Given the description of an element on the screen output the (x, y) to click on. 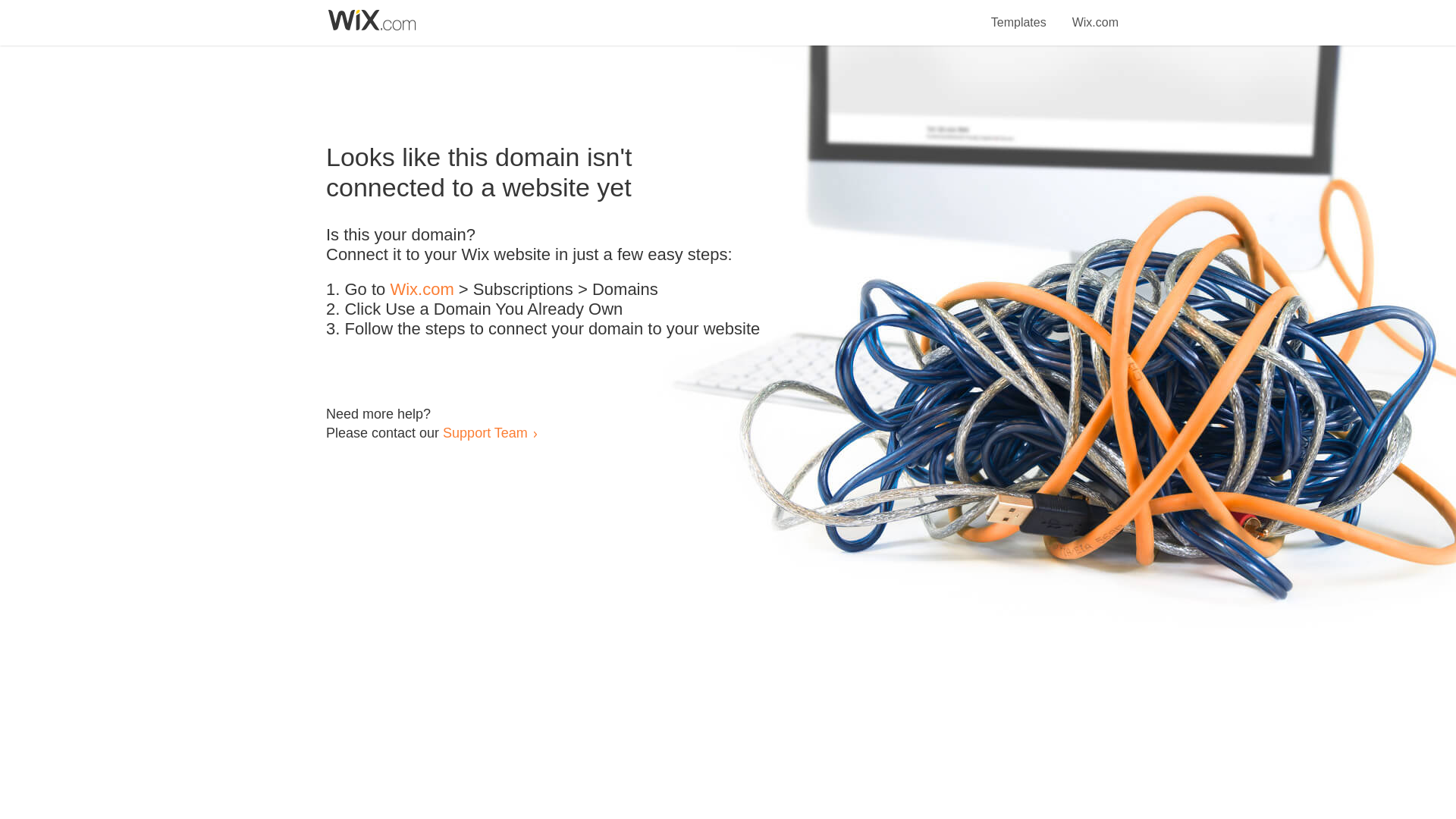
Wix.com (1095, 14)
Wix.com (421, 289)
Templates (1018, 14)
Support Team (484, 432)
